Given the description of an element on the screen output the (x, y) to click on. 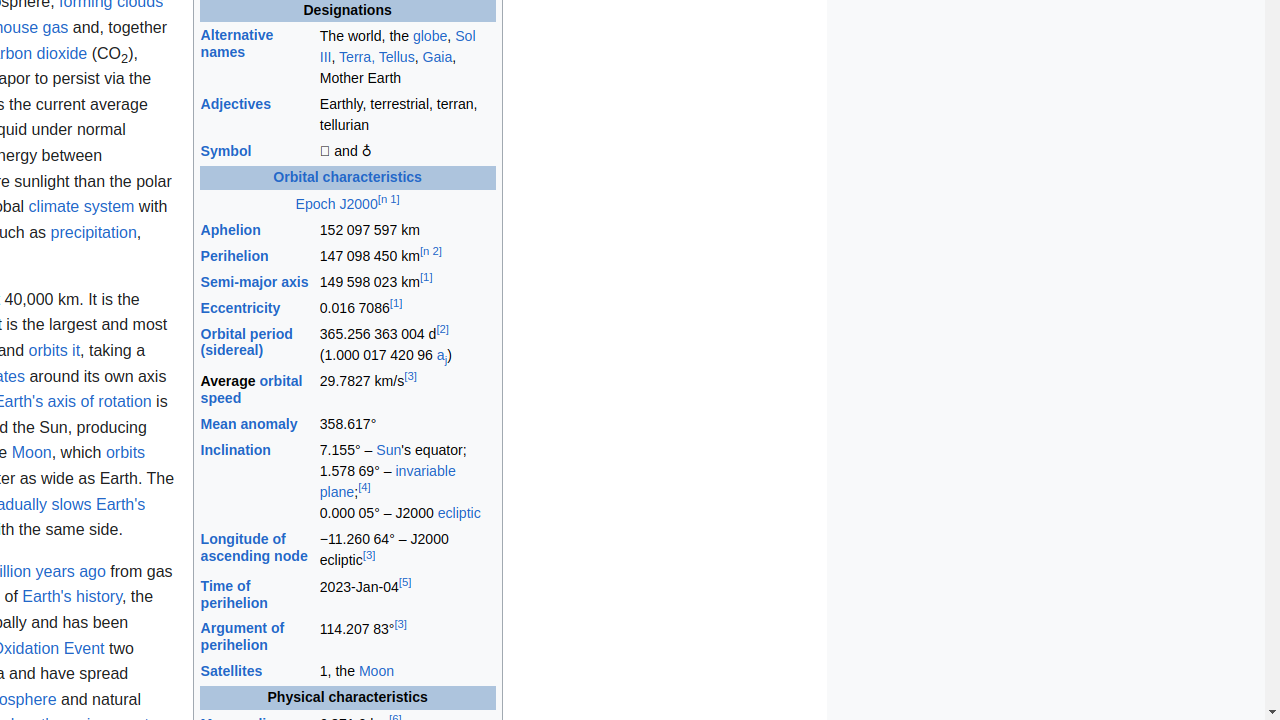
Sol III Element type: link (397, 46)
Inclination Element type: link (235, 449)
147098450 km[n 2] Element type: table-cell (407, 256)
−11.26064° – J2000 ecliptic[3] Element type: table-cell (407, 550)
[3] Element type: link (410, 376)
